Given the description of an element on the screen output the (x, y) to click on. 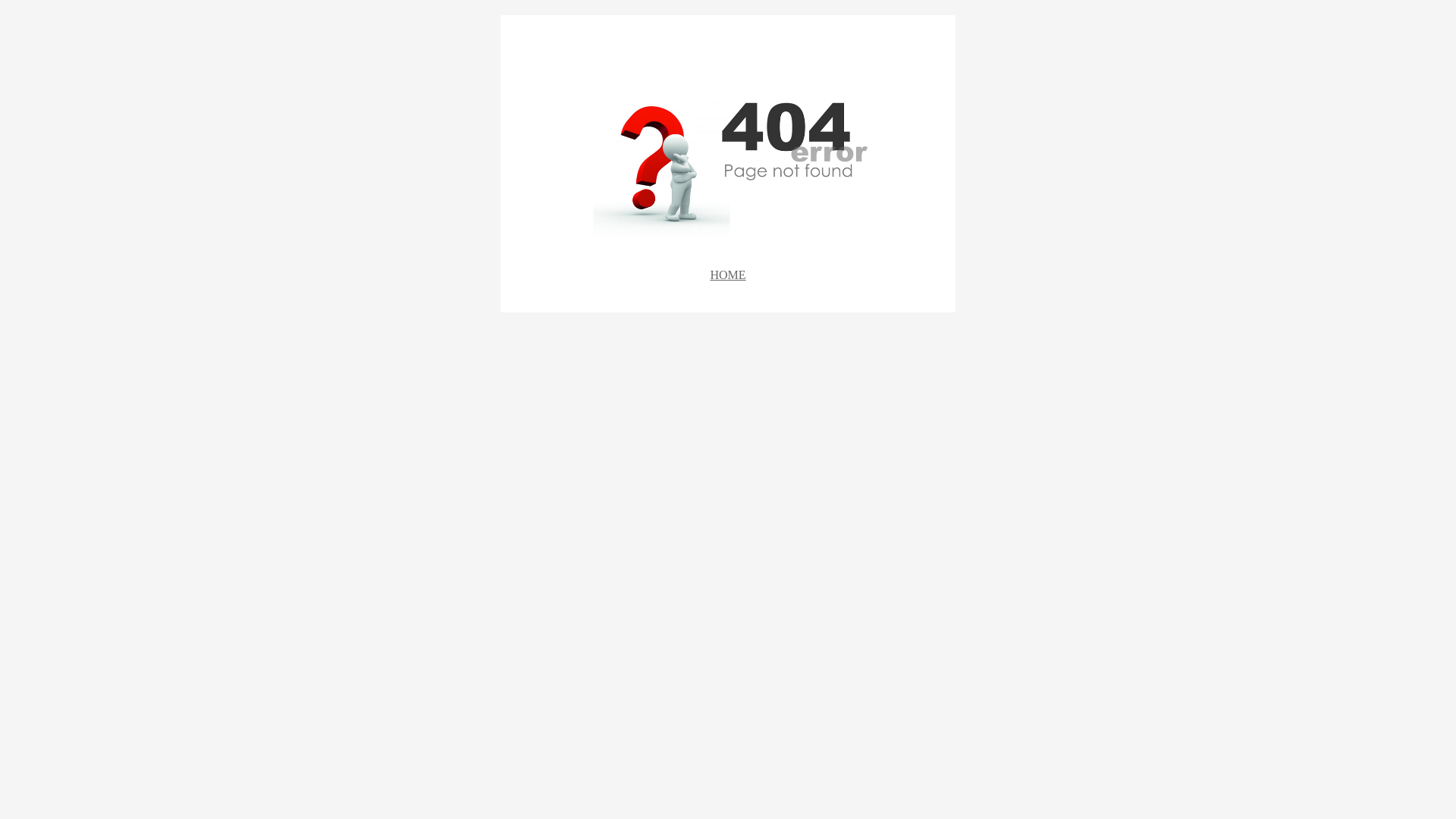
HOME (727, 274)
